Given the description of an element on the screen output the (x, y) to click on. 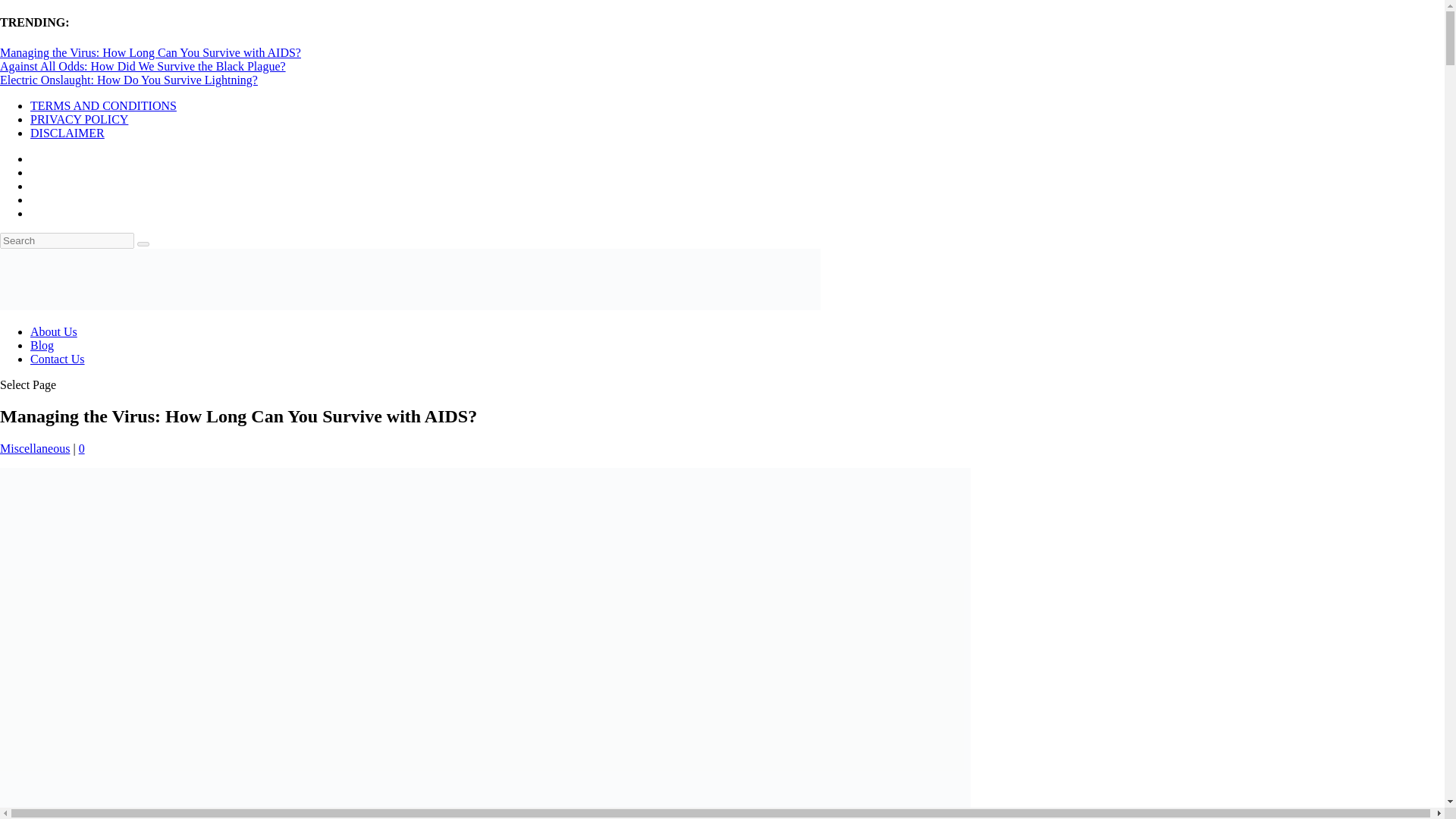
Contact Us (57, 358)
TERMS AND CONDITIONS (103, 105)
Blog (41, 345)
About Us (53, 331)
Managing the Virus: How Long Can You Survive with AIDS? (150, 51)
PRIVACY POLICY (79, 119)
Electric Onslaught: How Do You Survive Lightning? (128, 79)
Miscellaneous (34, 448)
Search for: (66, 240)
DISCLAIMER (67, 132)
Against All Odds: How Did We Survive the Black Plague? (142, 65)
